Given the description of an element on the screen output the (x, y) to click on. 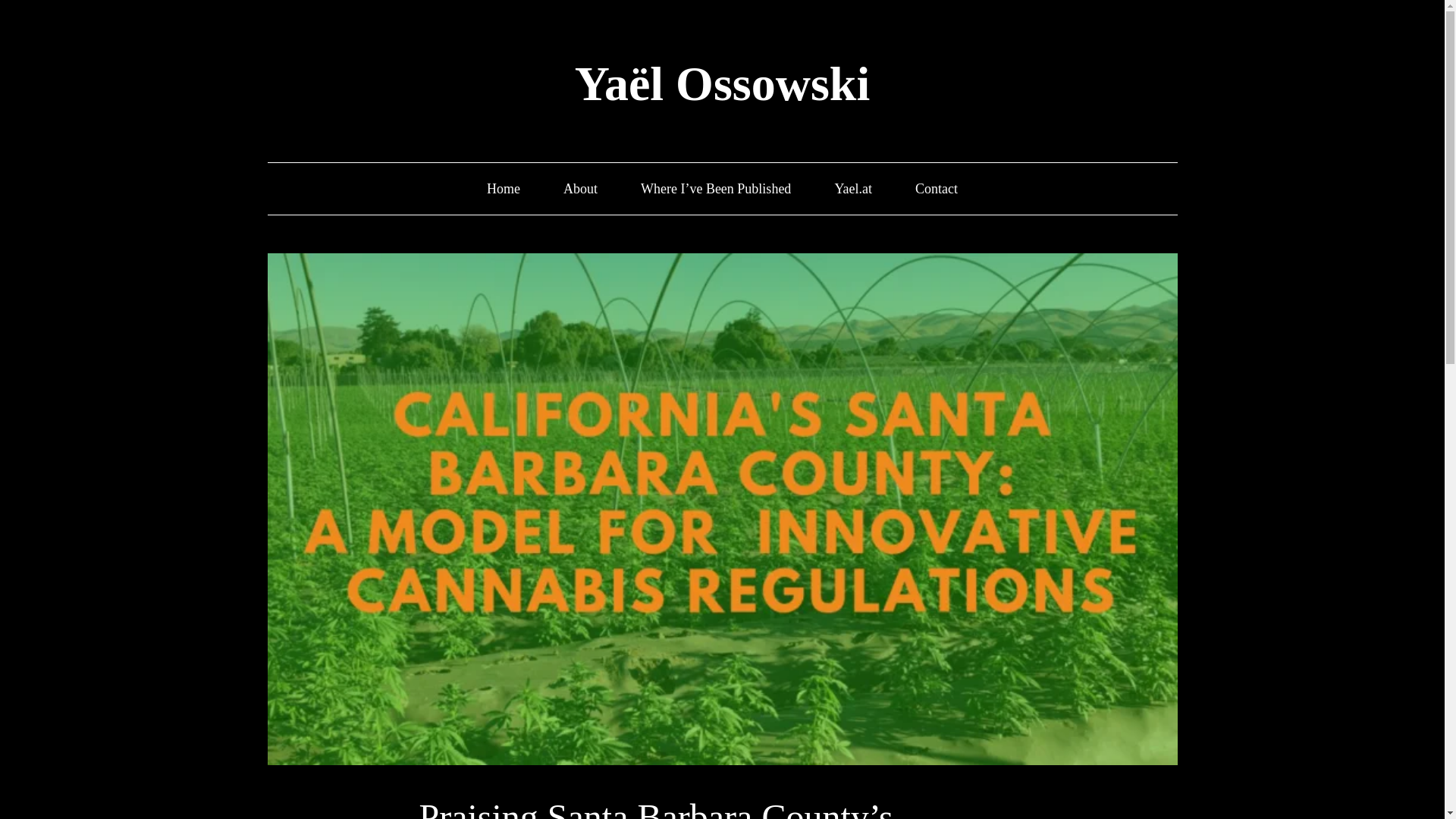
Home (502, 188)
About (579, 188)
Yael.at (853, 188)
Contact (936, 188)
